Given the description of an element on the screen output the (x, y) to click on. 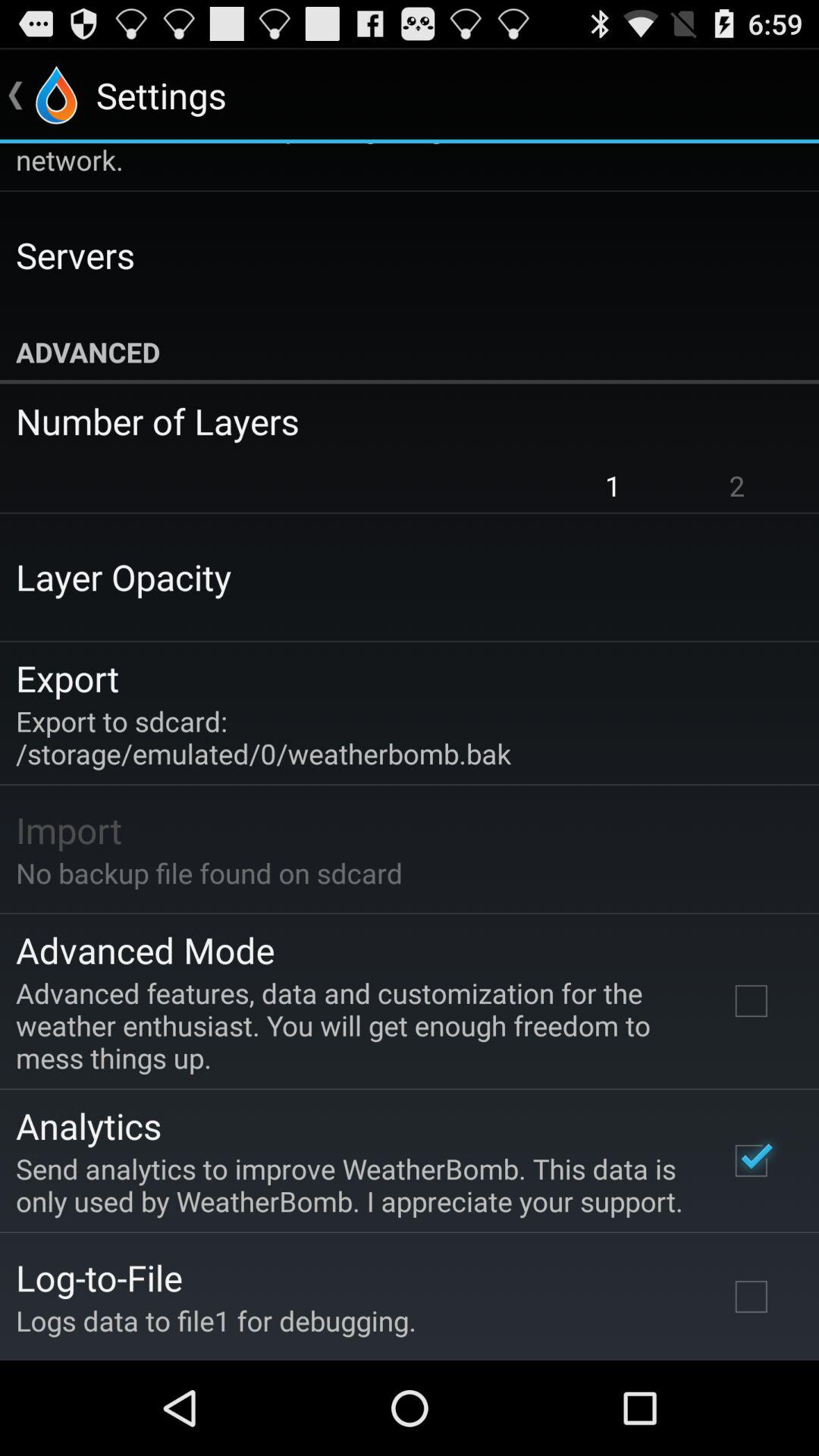
jump to the send analytics to (351, 1184)
